Given the description of an element on the screen output the (x, y) to click on. 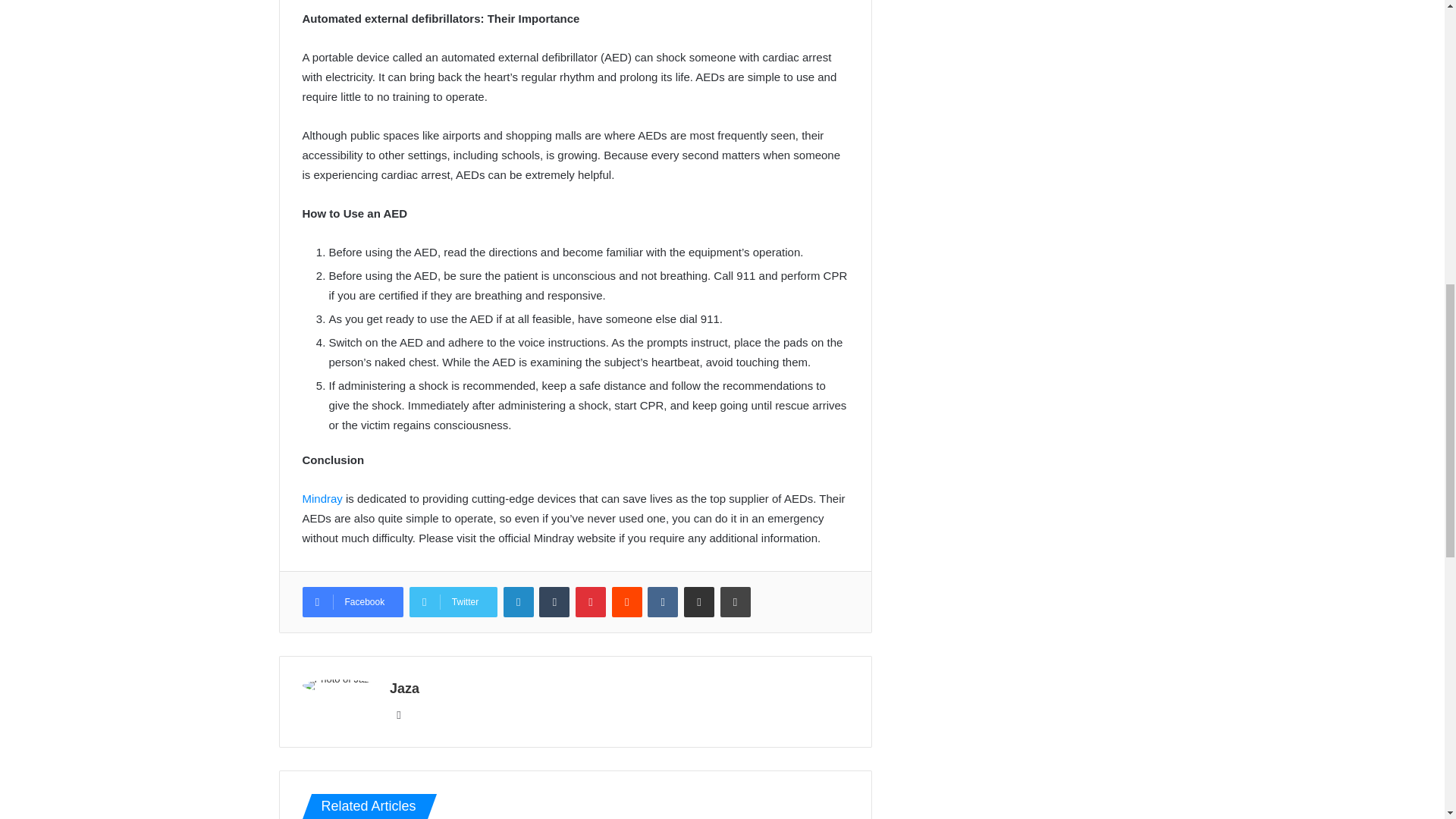
Reddit (626, 602)
Pinterest (590, 602)
Facebook (352, 602)
Print (735, 602)
VKontakte (662, 602)
Print (735, 602)
LinkedIn (518, 602)
Website (398, 714)
Facebook (352, 602)
Tumblr (553, 602)
